Given the description of an element on the screen output the (x, y) to click on. 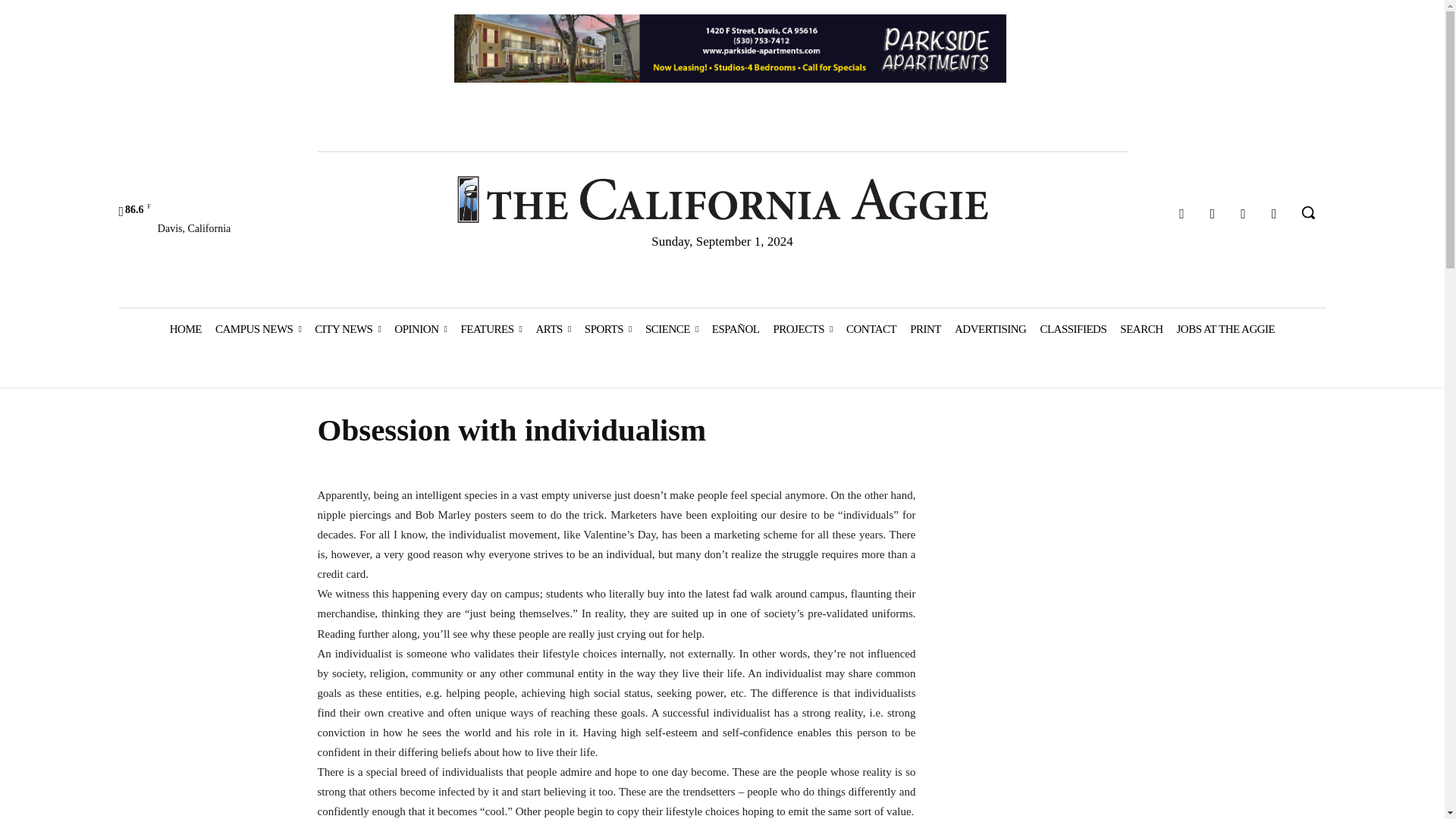
Instagram (1212, 214)
Youtube (1273, 214)
CAMPUS NEWS (257, 329)
Facebook (1181, 214)
HOME (185, 329)
Twitter (1243, 214)
